Given the description of an element on the screen output the (x, y) to click on. 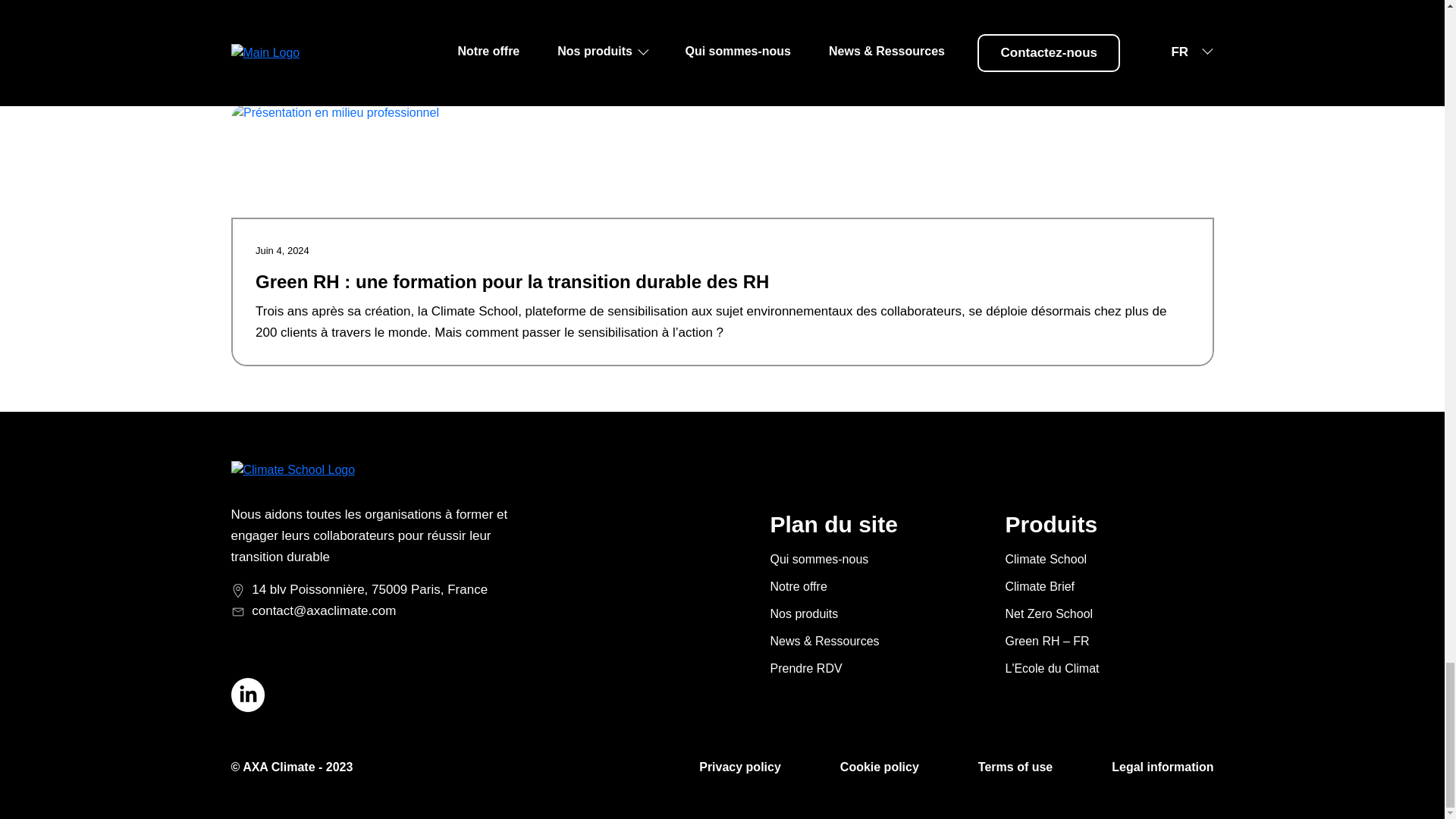
Qui sommes-nous (818, 558)
Homepage (292, 470)
Nos produits (804, 613)
Voir tout (1189, 64)
Notre offre (798, 585)
